Given the description of an element on the screen output the (x, y) to click on. 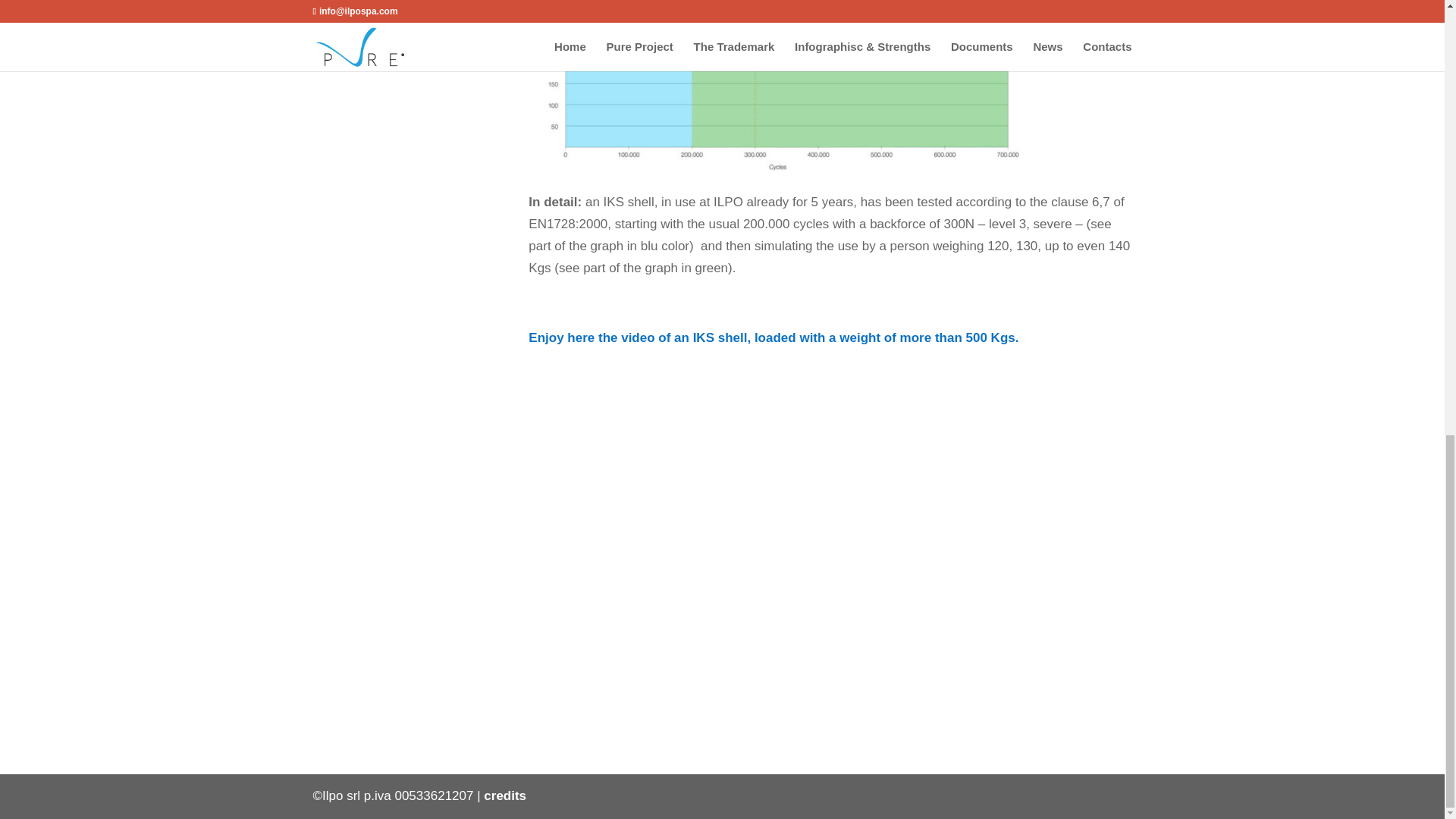
credits (504, 795)
